Given the description of an element on the screen output the (x, y) to click on. 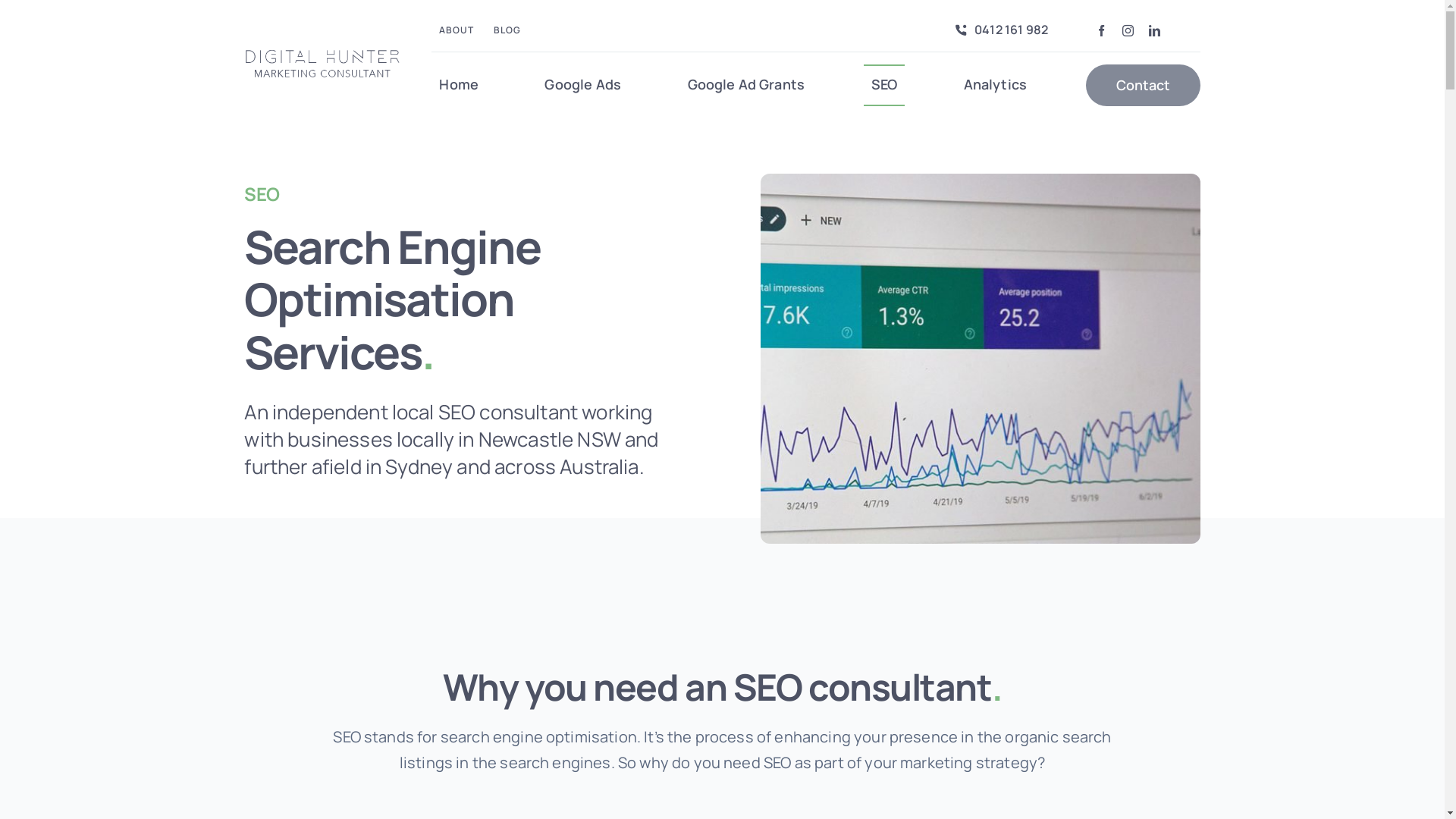
Google Ads Element type: text (582, 85)
0412 161 982 Element type: text (998, 30)
Google Ad Grants Element type: text (746, 85)
ABOUT Element type: text (456, 30)
Contact Element type: text (1142, 85)
Home Element type: text (458, 85)
BLOG Element type: text (507, 30)
Analytics Element type: text (995, 85)
SEO Element type: text (883, 85)
